Given the description of an element on the screen output the (x, y) to click on. 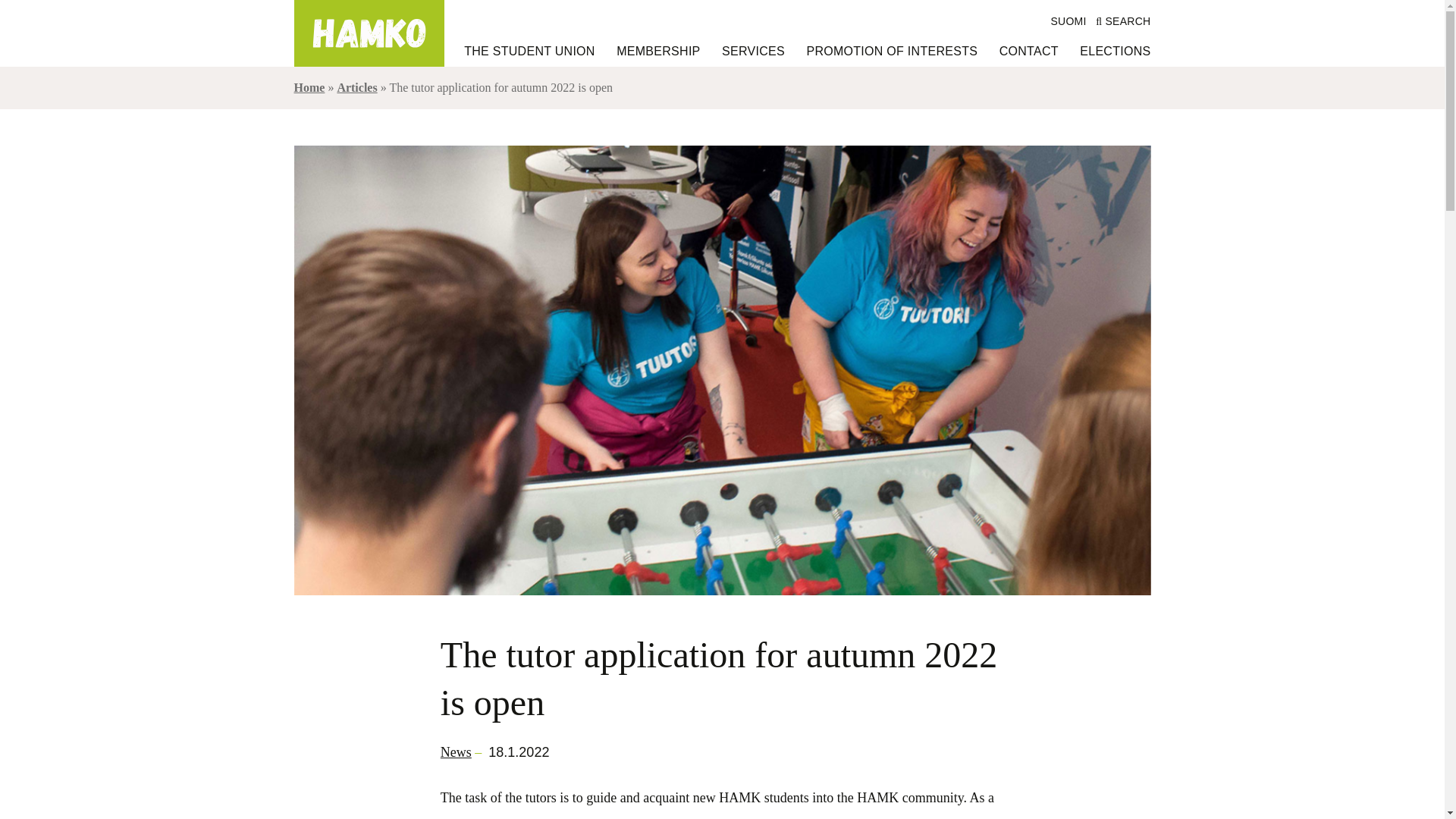
PROMOTION OF INTERESTS (891, 51)
THE STUDENT UNION (529, 51)
News (456, 752)
MEMBERSHIP (657, 51)
ELECTIONS (1115, 51)
CONTACT (1028, 51)
SERVICES (753, 51)
 SEARCH (1121, 21)
SUOMI (1067, 21)
